Given the description of an element on the screen output the (x, y) to click on. 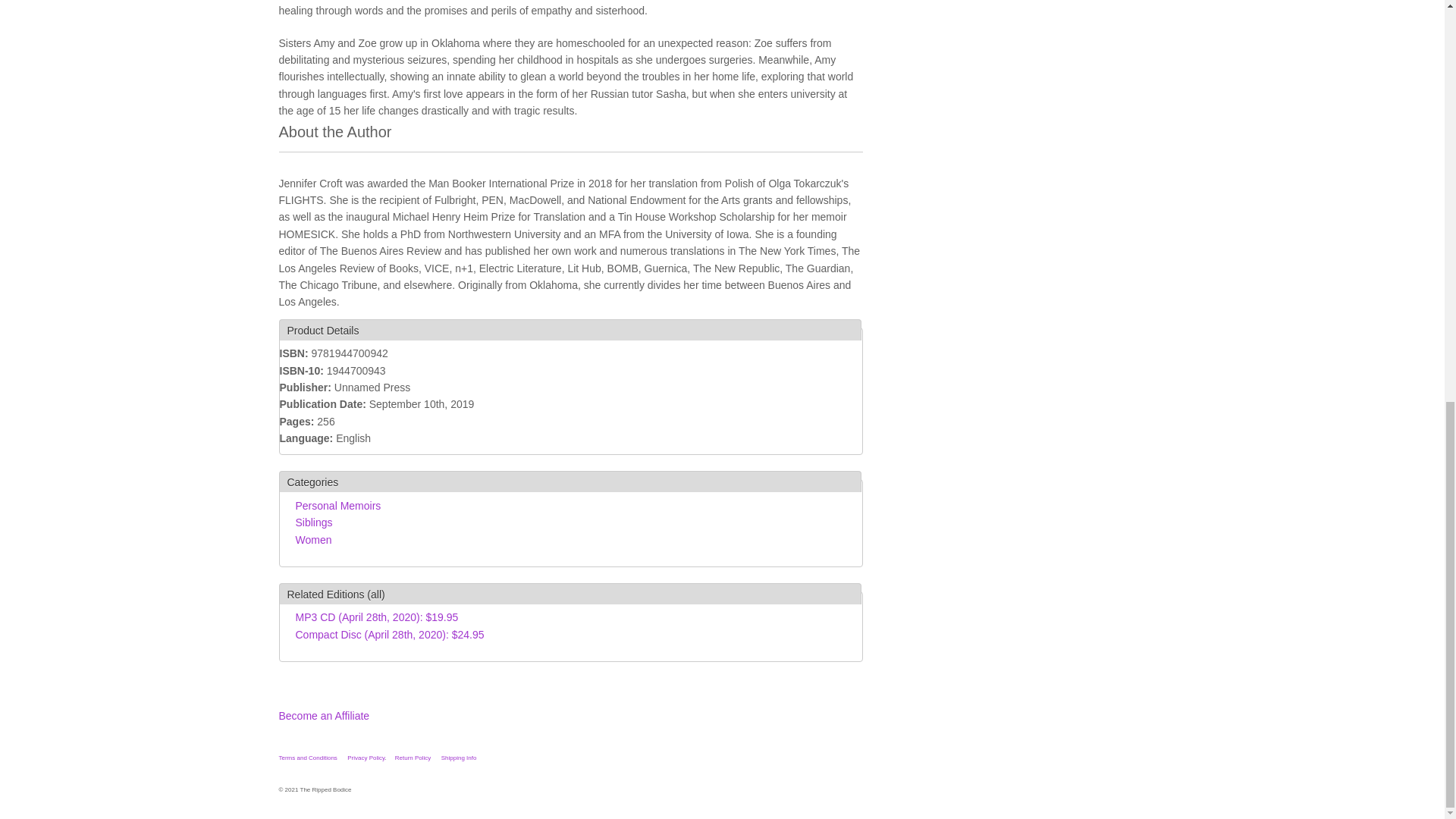
Personal Memoirs (338, 505)
Become an Affiliate (324, 715)
Women (313, 539)
Privacy Policy (365, 757)
Terms and Conditions (308, 757)
Siblings (314, 522)
